Given the description of an element on the screen output the (x, y) to click on. 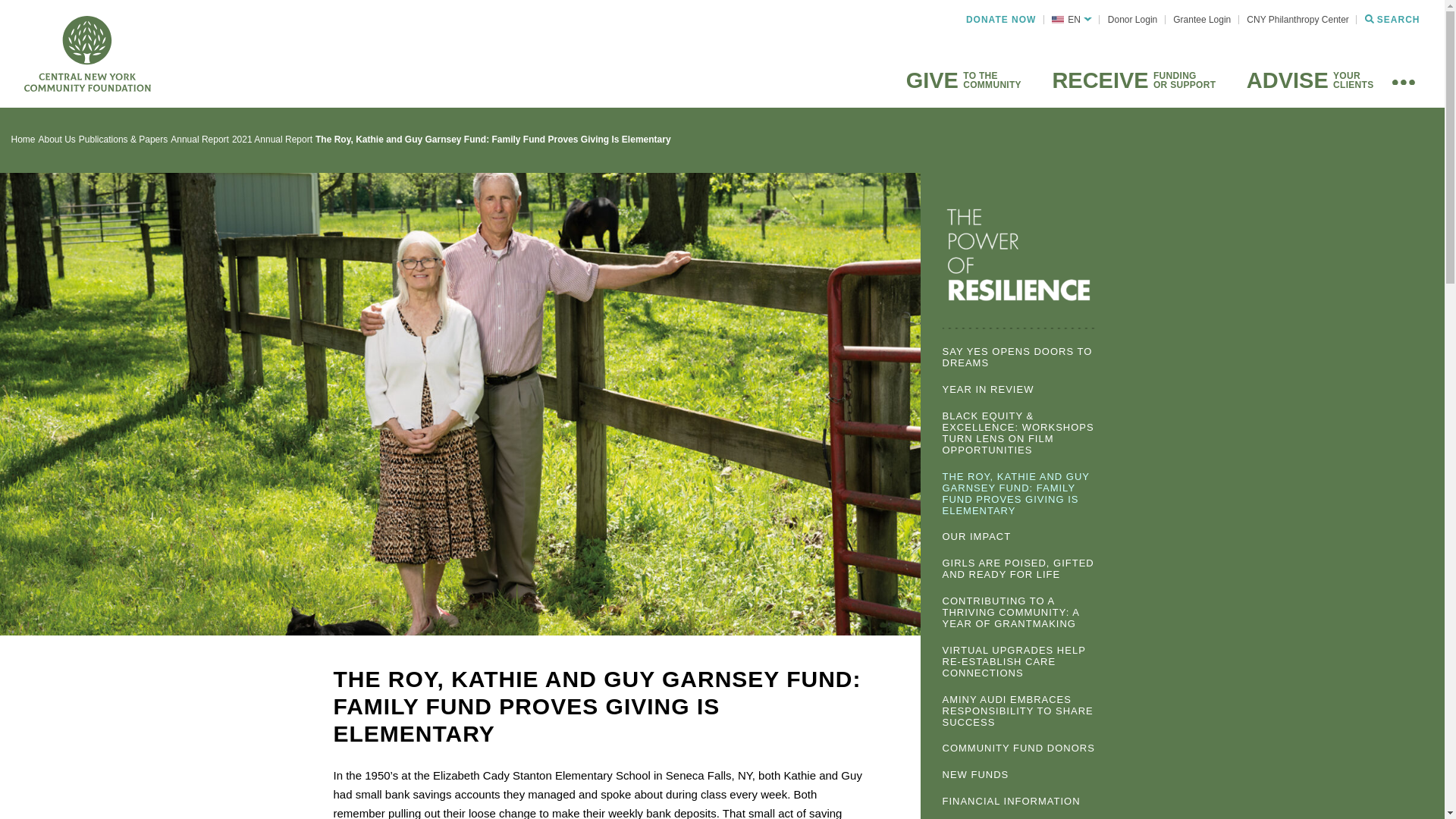
Donor Login (1131, 19)
GIVE TO THE COMMUNITY (960, 81)
Grantee Login (1202, 19)
RECEIVE FUNDING OR SUPPORT (1130, 81)
CNY Philanthropy Center (1297, 19)
SEARCH (1392, 19)
EN (1071, 19)
DONATE NOW (1000, 19)
